Given the description of an element on the screen output the (x, y) to click on. 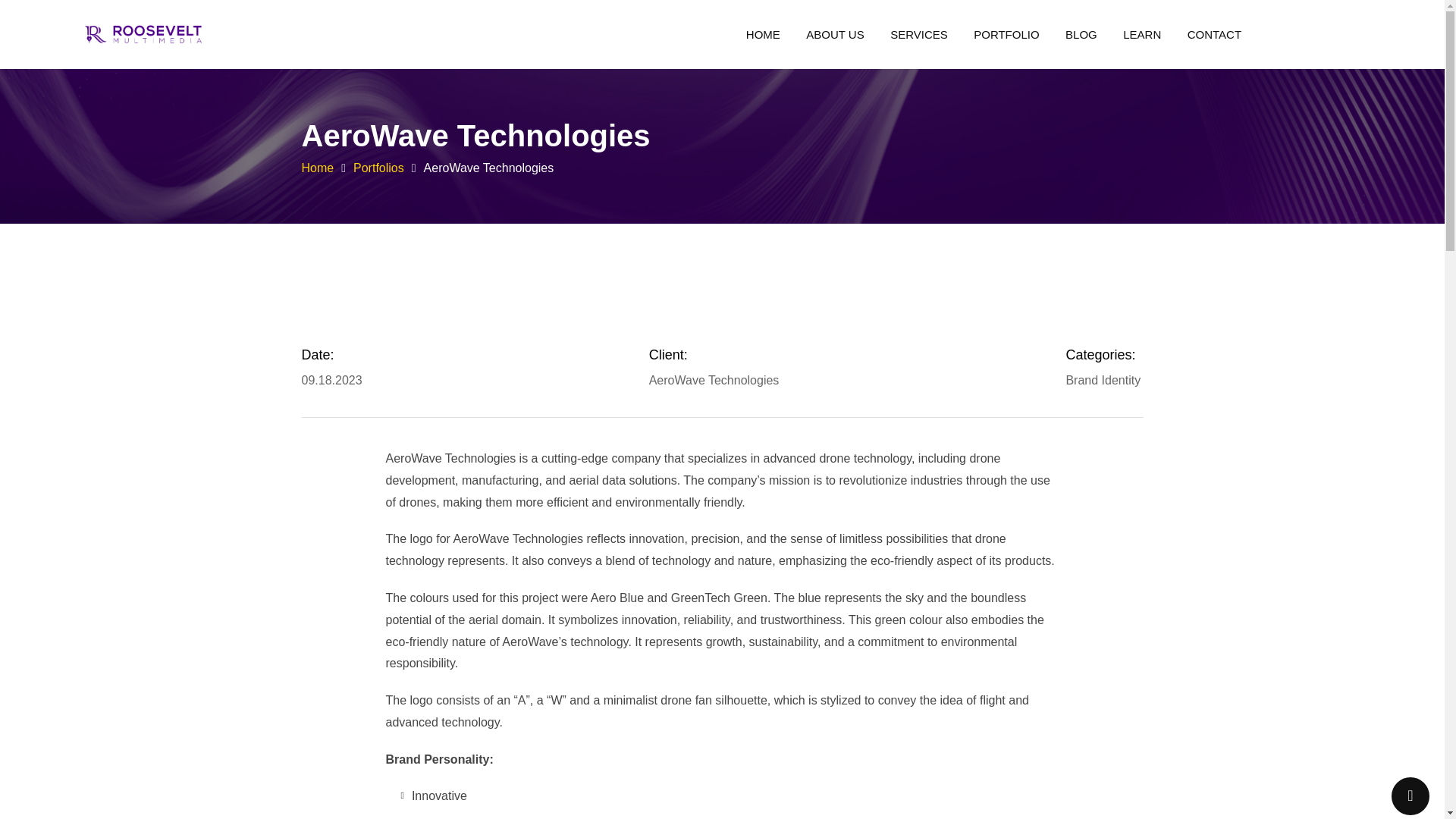
SERVICES (919, 34)
Go to Roosevelt Multimedia. (317, 167)
Go to Portfolios. (378, 167)
ABOUT US (834, 34)
Portfolios (378, 167)
PORTFOLIO (1005, 34)
CONTACT (1214, 34)
Home (317, 167)
